Given the description of an element on the screen output the (x, y) to click on. 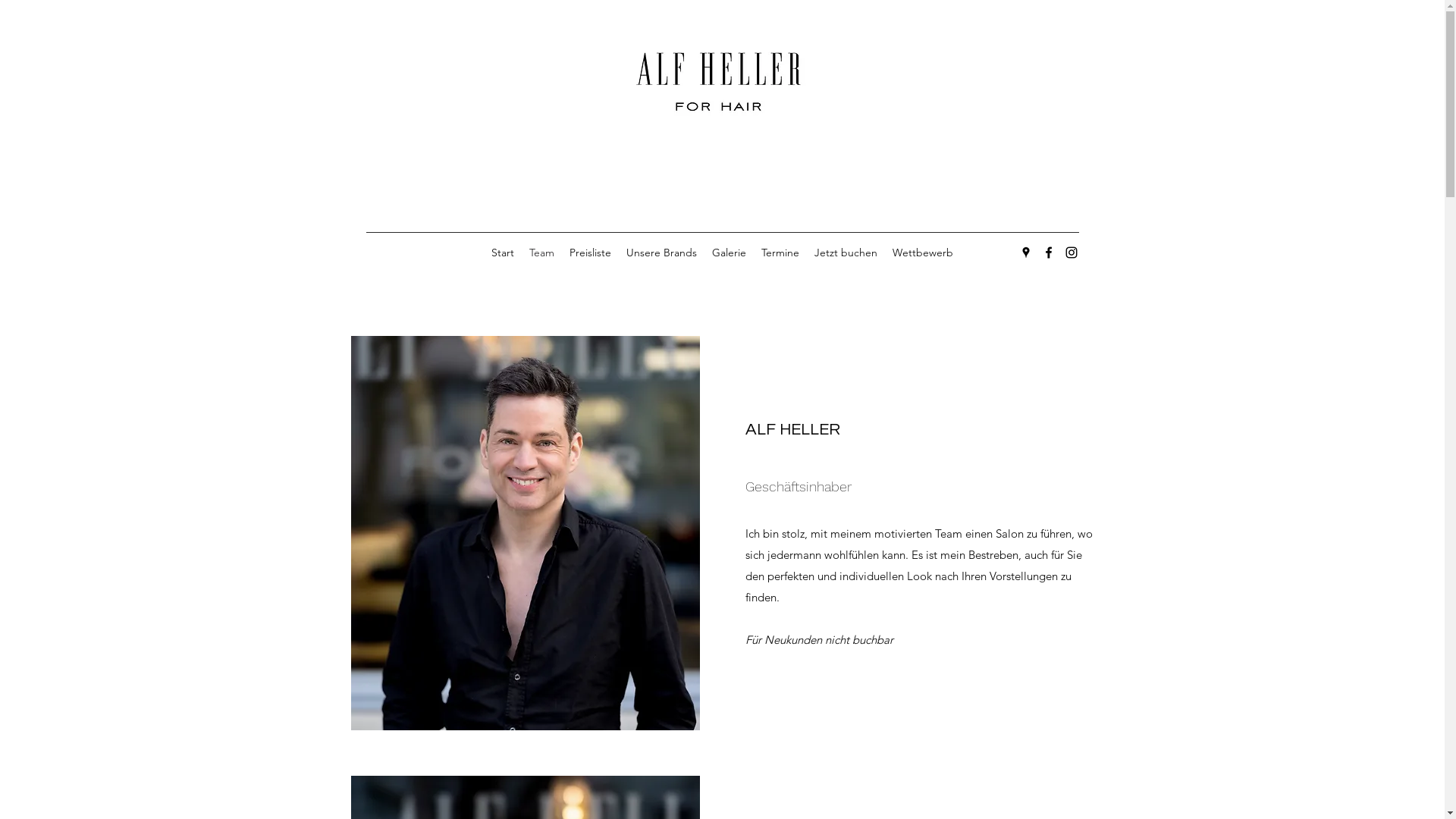
Wettbewerb Element type: text (922, 252)
Preisliste Element type: text (589, 252)
Unsere Brands Element type: text (661, 252)
Galerie Element type: text (728, 252)
Jetzt buchen Element type: text (845, 252)
Termine Element type: text (779, 252)
Start Element type: text (502, 252)
Team Element type: text (541, 252)
